Given the description of an element on the screen output the (x, y) to click on. 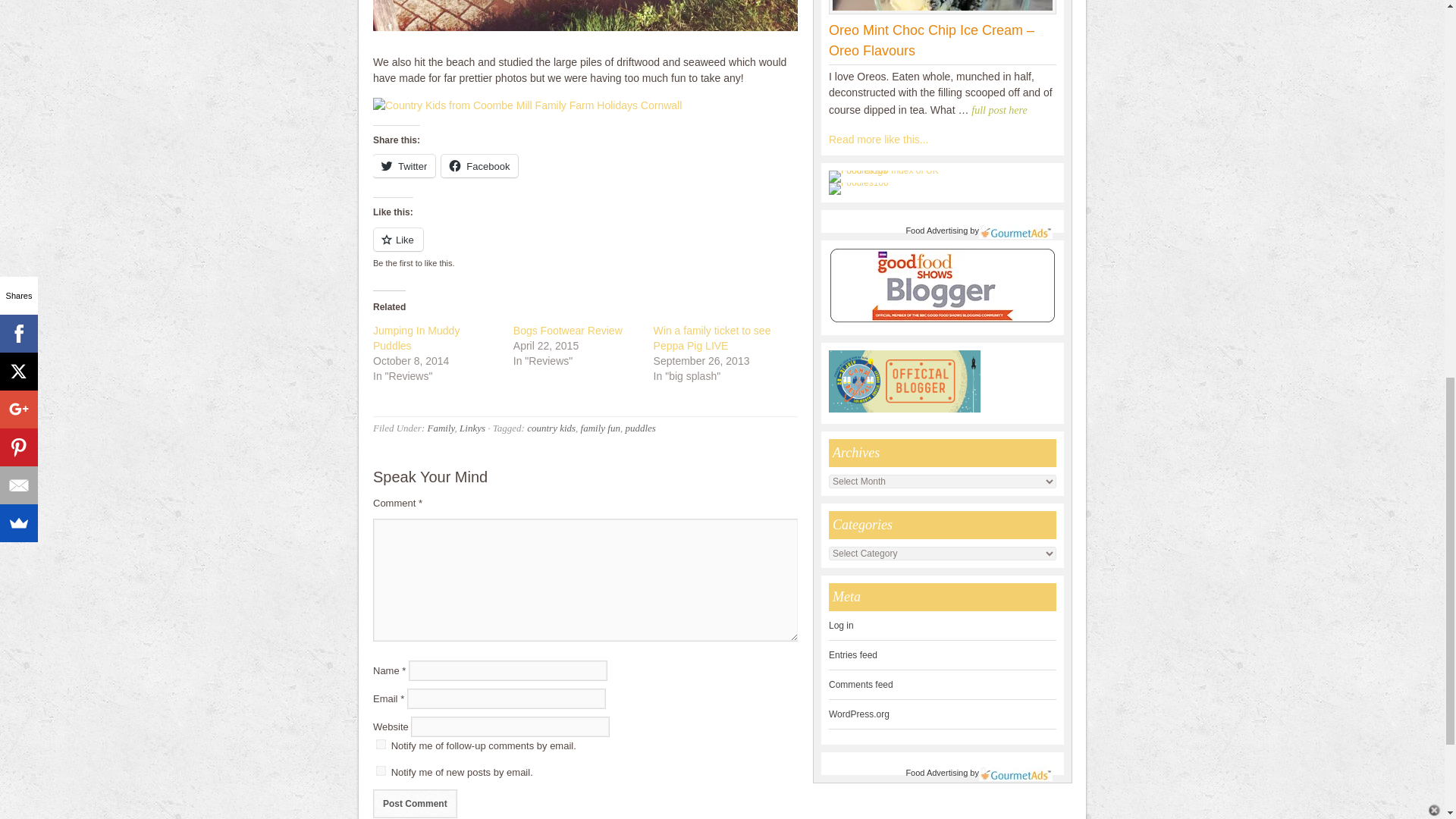
puddles (639, 428)
Facebook (479, 165)
Linkys (472, 428)
Family (440, 428)
Click to share on Twitter (403, 165)
Jumping In Muddy Puddles (416, 338)
family fun (600, 428)
subscribe (380, 744)
Bogs Footwear Review (568, 330)
Click to share on Facebook (479, 165)
Post Comment (414, 803)
Like or Reblog (584, 248)
country kids (551, 428)
Bogs Footwear Review (568, 330)
Recipe Development (878, 139)
